Given the description of an element on the screen output the (x, y) to click on. 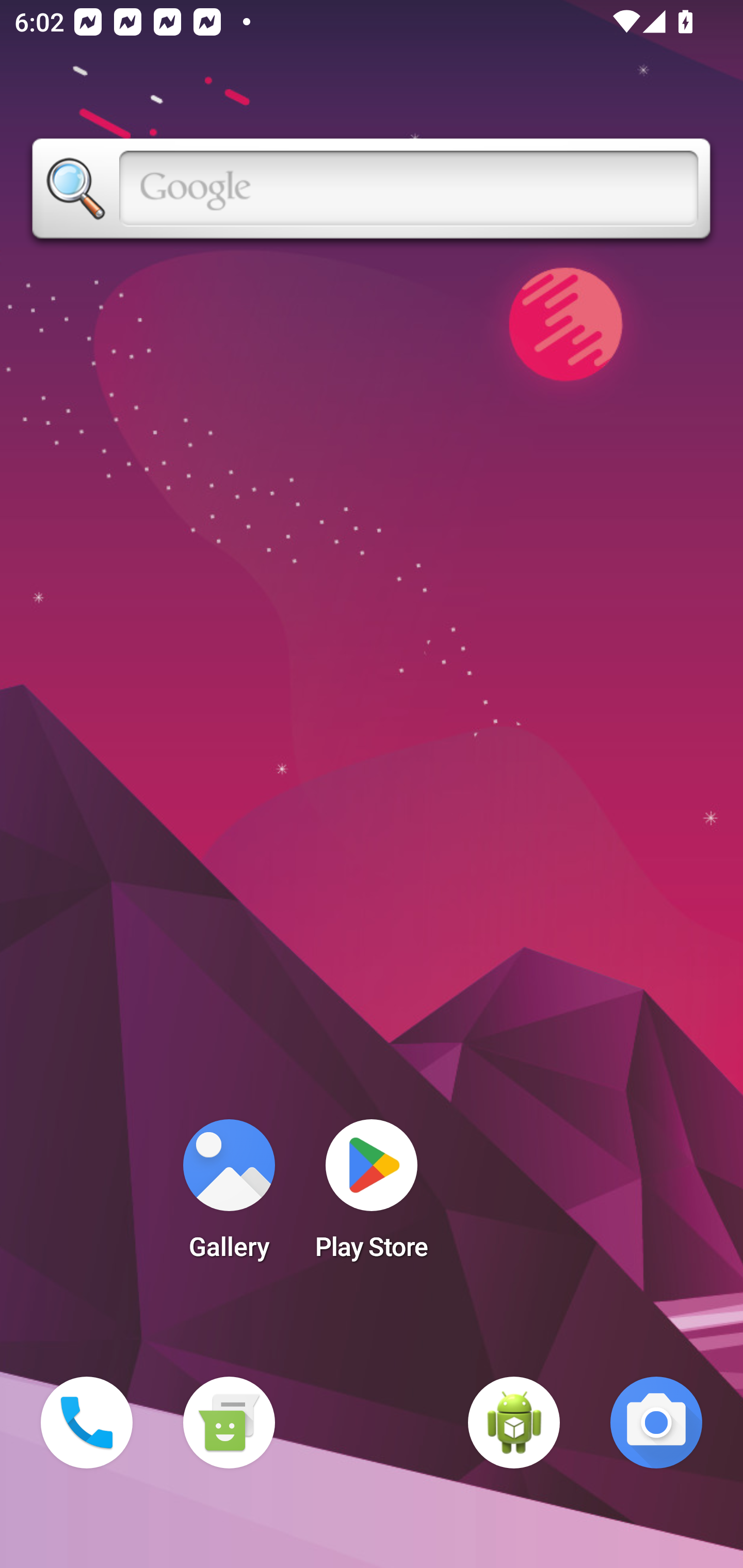
Gallery (228, 1195)
Play Store (371, 1195)
Phone (86, 1422)
Messaging (228, 1422)
WebView Browser Tester (513, 1422)
Camera (656, 1422)
